Given the description of an element on the screen output the (x, y) to click on. 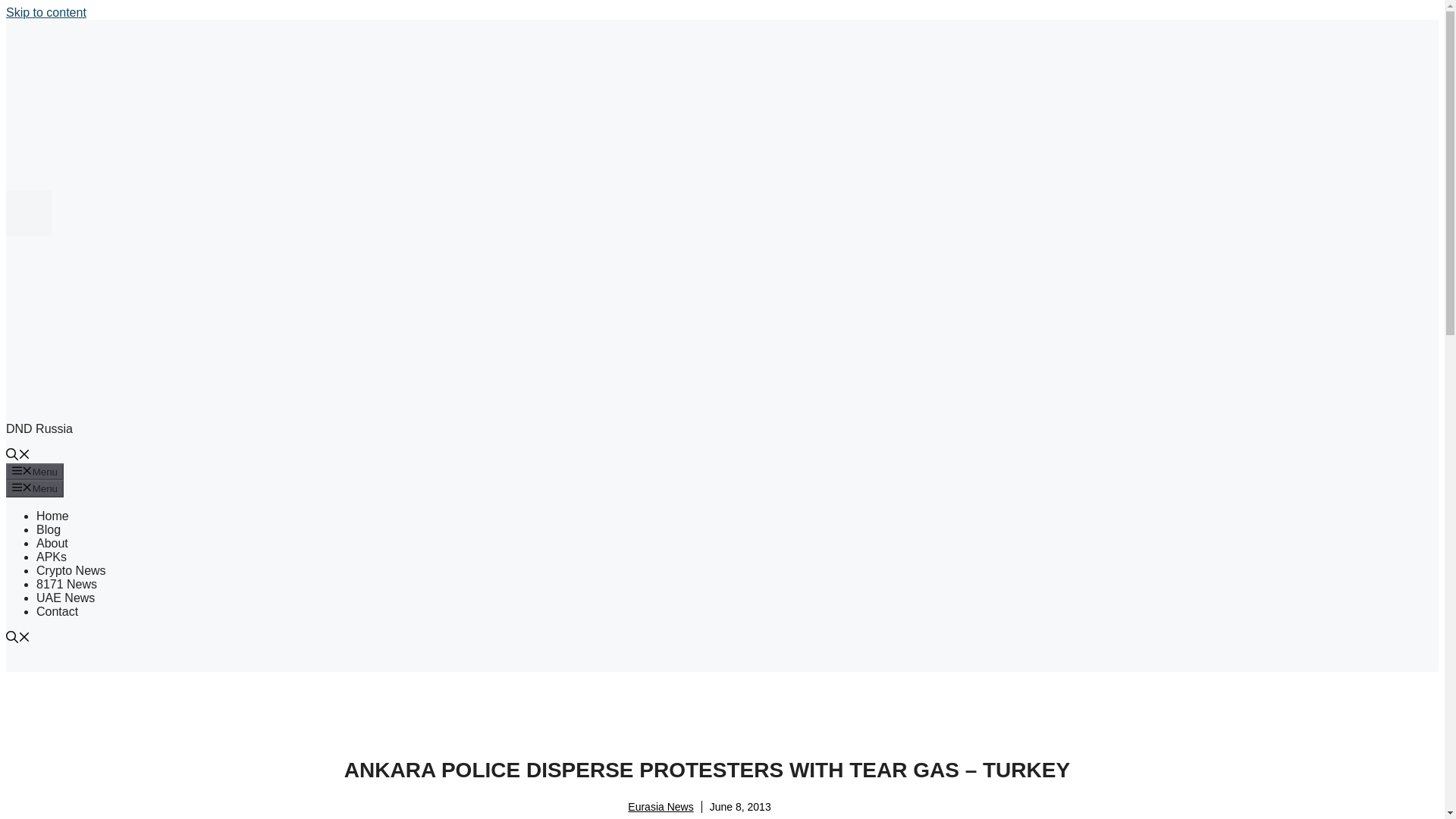
Blog (48, 529)
About (52, 543)
Eurasia News (660, 806)
DND Russia (38, 428)
8171 News (66, 584)
APKs (51, 556)
Contact (57, 611)
Home (52, 515)
UAE News (65, 597)
Crypto News (71, 570)
Menu (34, 471)
Skip to content (45, 11)
Skip to content (45, 11)
Menu (34, 487)
